Given the description of an element on the screen output the (x, y) to click on. 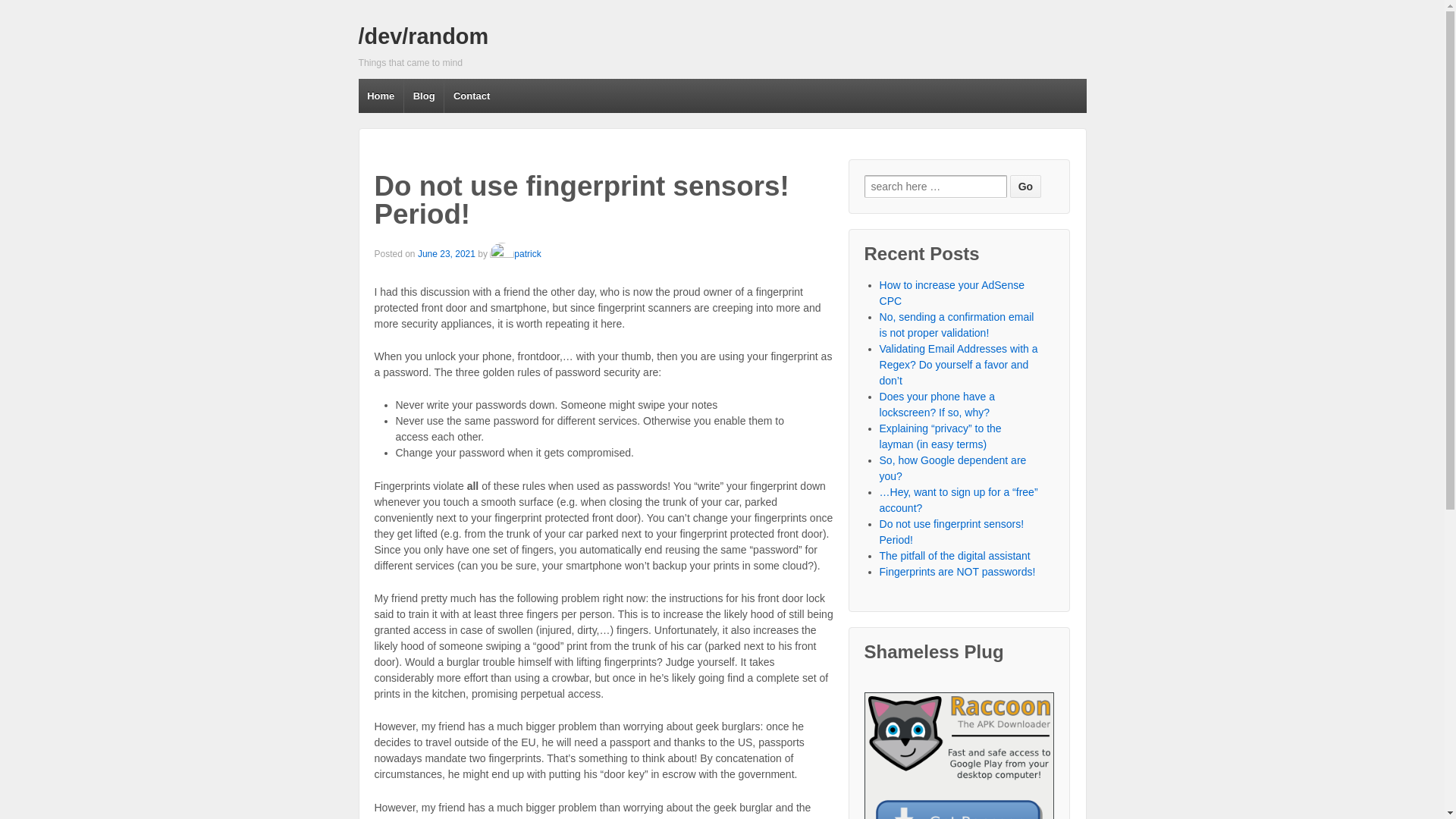
Go (1025, 186)
Contact (471, 95)
So, how Google dependent are you? (952, 468)
No, sending a confirmation email is not proper validation! (956, 325)
patrick (514, 253)
June 23, 2021 (446, 253)
The pitfall of the digital assistant (954, 555)
Do not use fingerprint sensors! Period! (446, 253)
Blog (423, 95)
Home (380, 95)
Fingerprints are NOT passwords! (957, 571)
View all posts by patrick (514, 253)
Do not use fingerprint sensors! Period! (952, 531)
Does your phone have a lockscreen? If so, why? (937, 404)
Go (1025, 186)
